Given the description of an element on the screen output the (x, y) to click on. 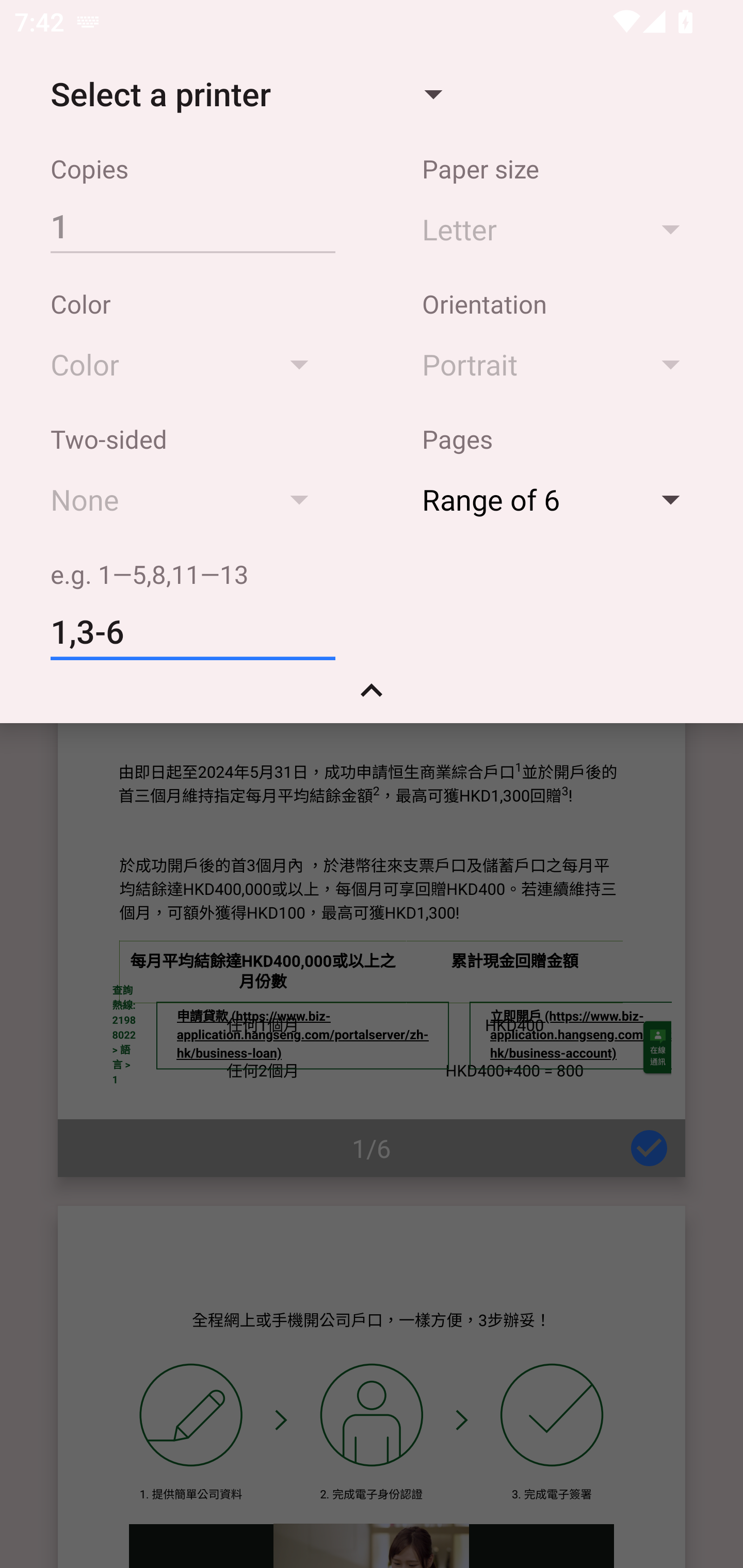
Select a printer (245, 93)
1 (192, 225)
Letter (560, 228)
Color (189, 364)
Portrait (560, 364)
None (189, 499)
Range of 6 (560, 499)
1,3-6 (192, 631)
Collapse handle (371, 697)
